Given the description of an element on the screen output the (x, y) to click on. 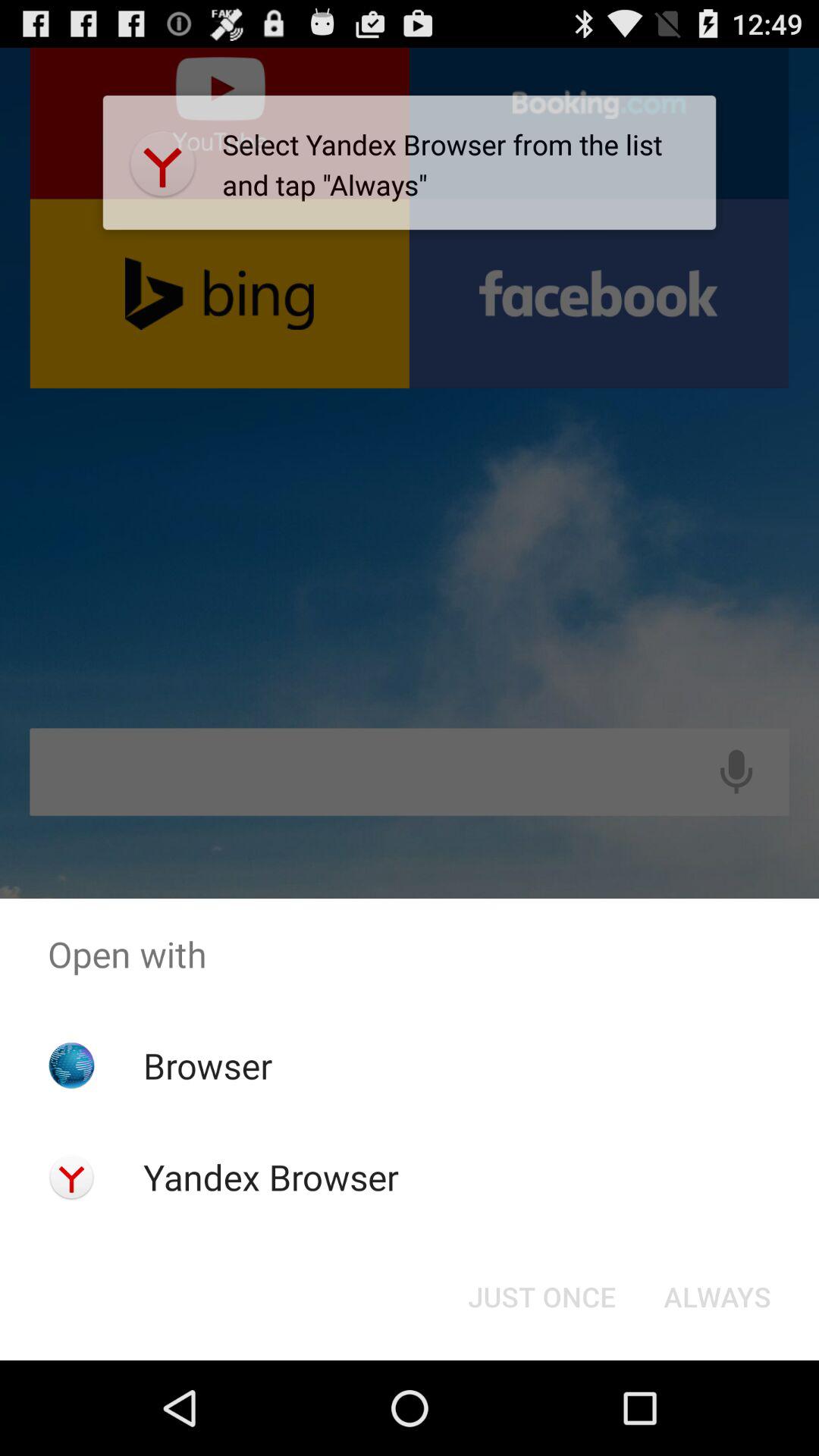
turn on the icon at the bottom right corner (717, 1296)
